Given the description of an element on the screen output the (x, y) to click on. 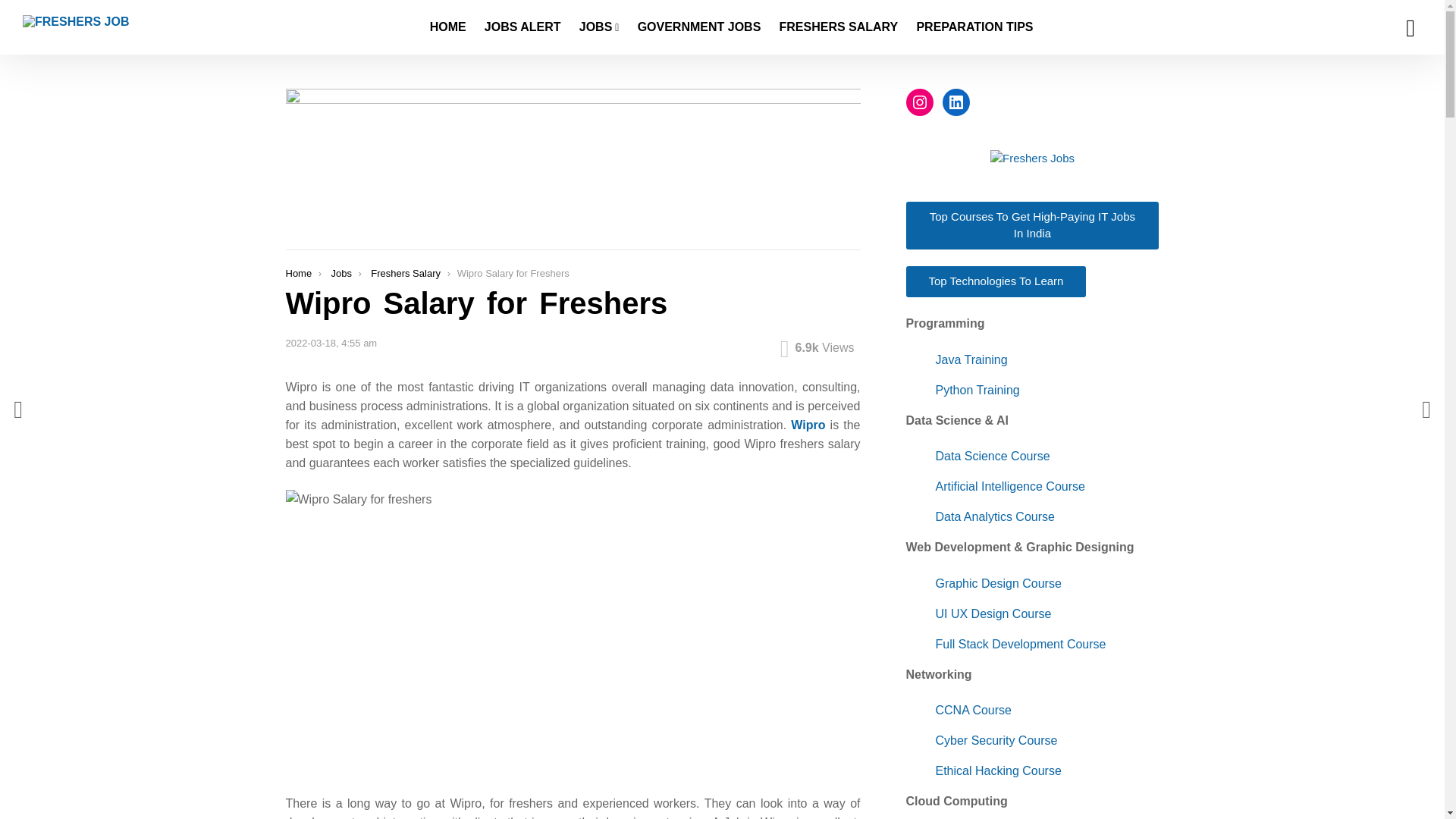
JOBS (599, 26)
JOBS ALERT (523, 26)
Wipro (807, 424)
Freshers Salary (406, 272)
FRESHERS SALARY (838, 26)
SEARCH (1410, 27)
GOVERNMENT JOBS (699, 26)
Home (298, 272)
PREPARATION TIPS (974, 26)
Jobs (340, 272)
HOME (448, 26)
